Given the description of an element on the screen output the (x, y) to click on. 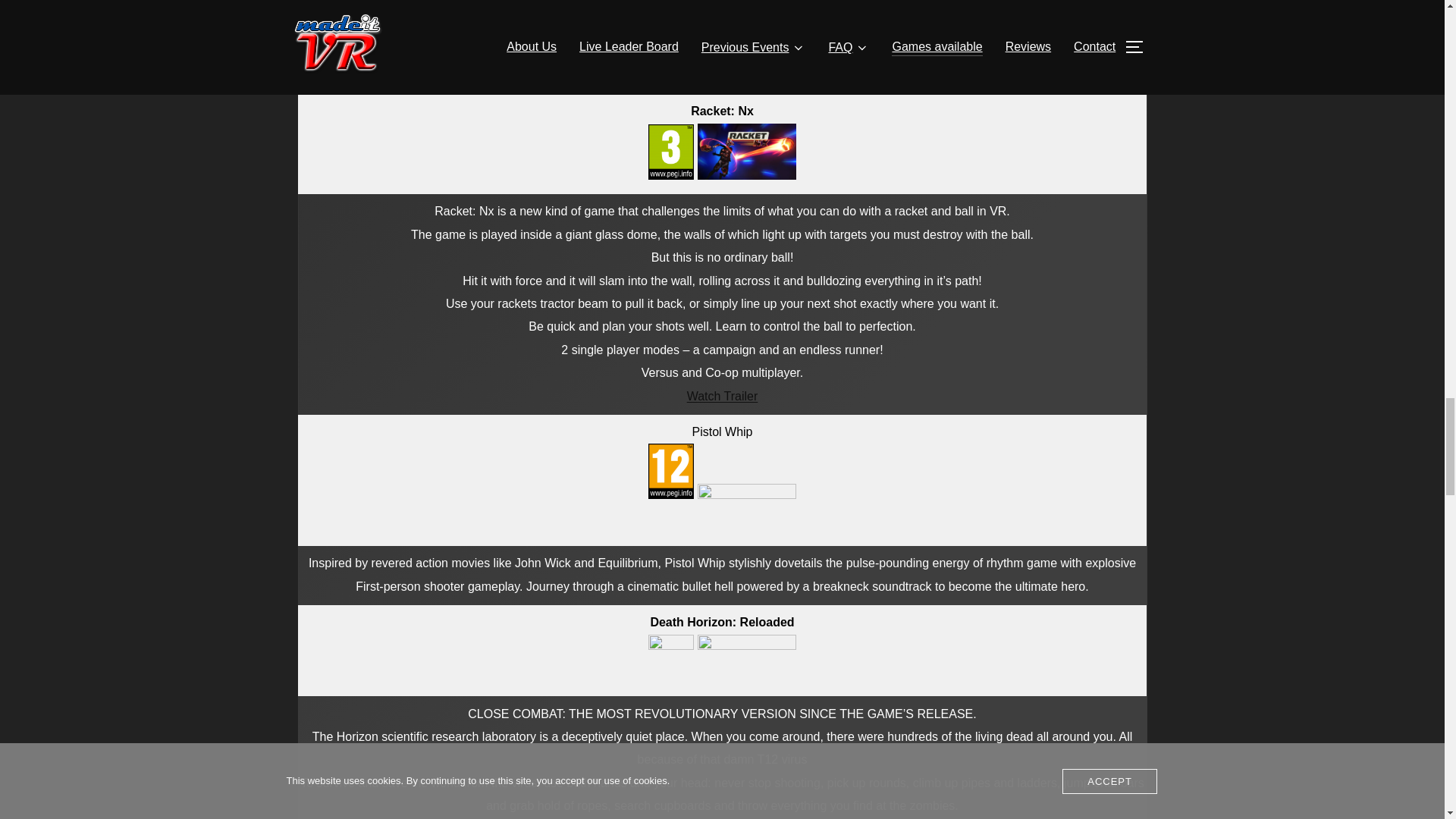
Watch Trailer (722, 395)
